Given the description of an element on the screen output the (x, y) to click on. 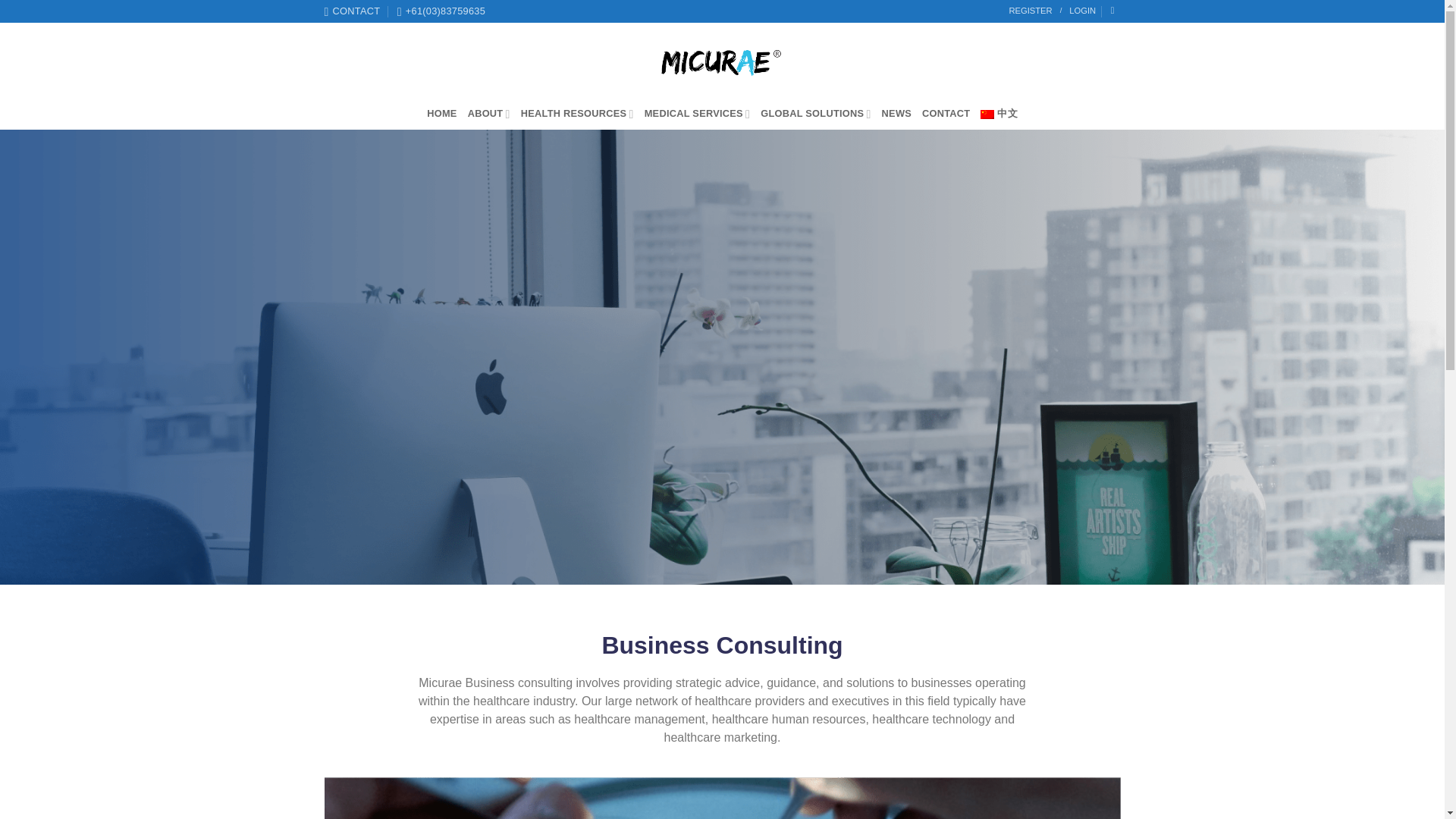
MEDICAL SERVICES (698, 113)
CONTACT (945, 113)
ABOUT (489, 113)
HEALTH RESOURCES (577, 113)
NEWS (896, 113)
GLOBAL SOLUTIONS (815, 113)
HOME (441, 113)
CONTACT (352, 11)
REGISTER (1030, 11)
LOGIN (1082, 11)
